Given the description of an element on the screen output the (x, y) to click on. 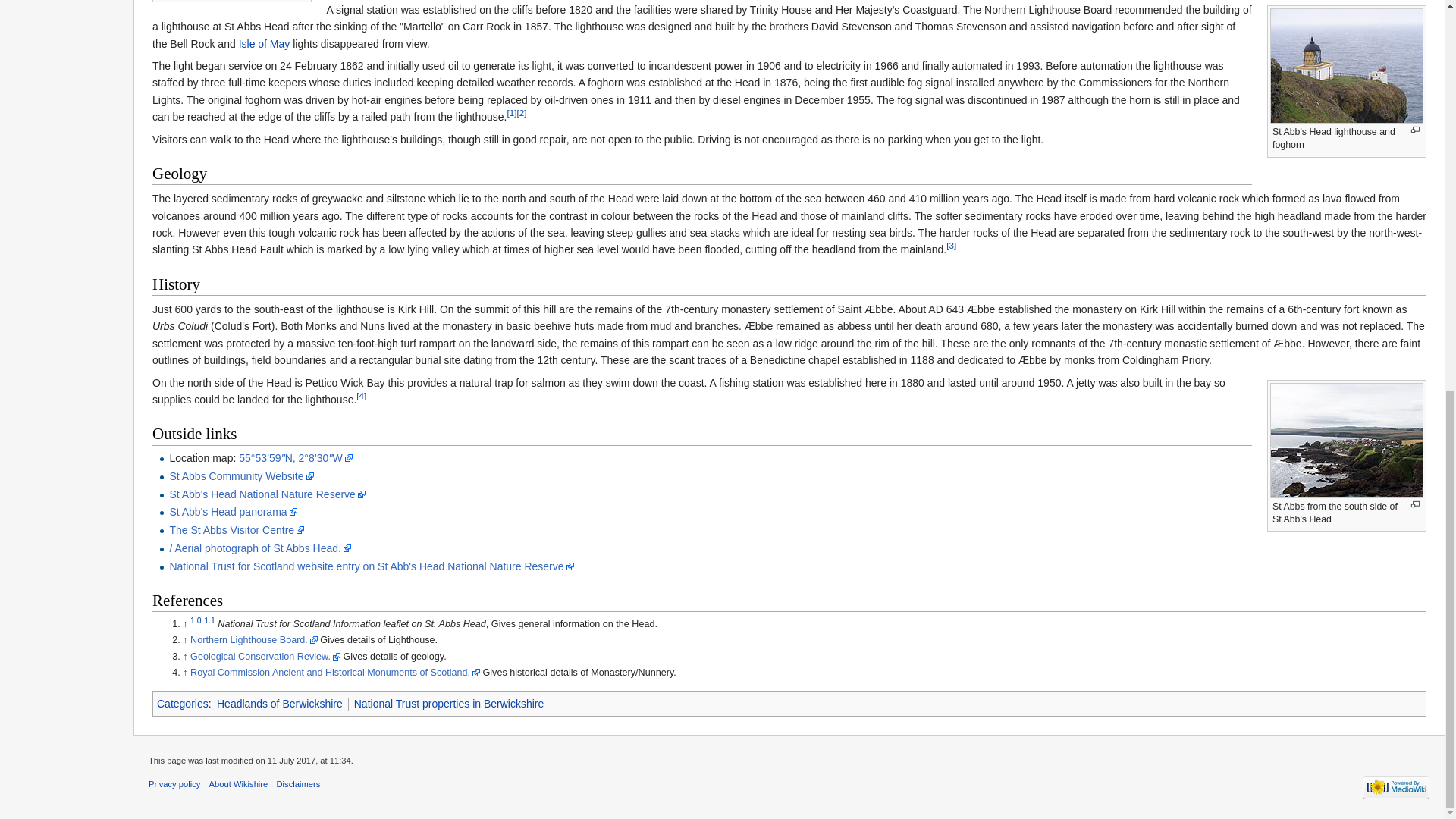
Isle of May (263, 43)
Isle of May (263, 43)
Category:Headlands of Berwickshire (279, 703)
Enlarge (1415, 130)
St Abbs Community Website (240, 476)
Category:National Trust properties in Berwickshire (448, 703)
Special:Categories (182, 703)
Enlarge (1415, 504)
St Abb's Head National Nature Reserve (266, 494)
